Given the description of an element on the screen output the (x, y) to click on. 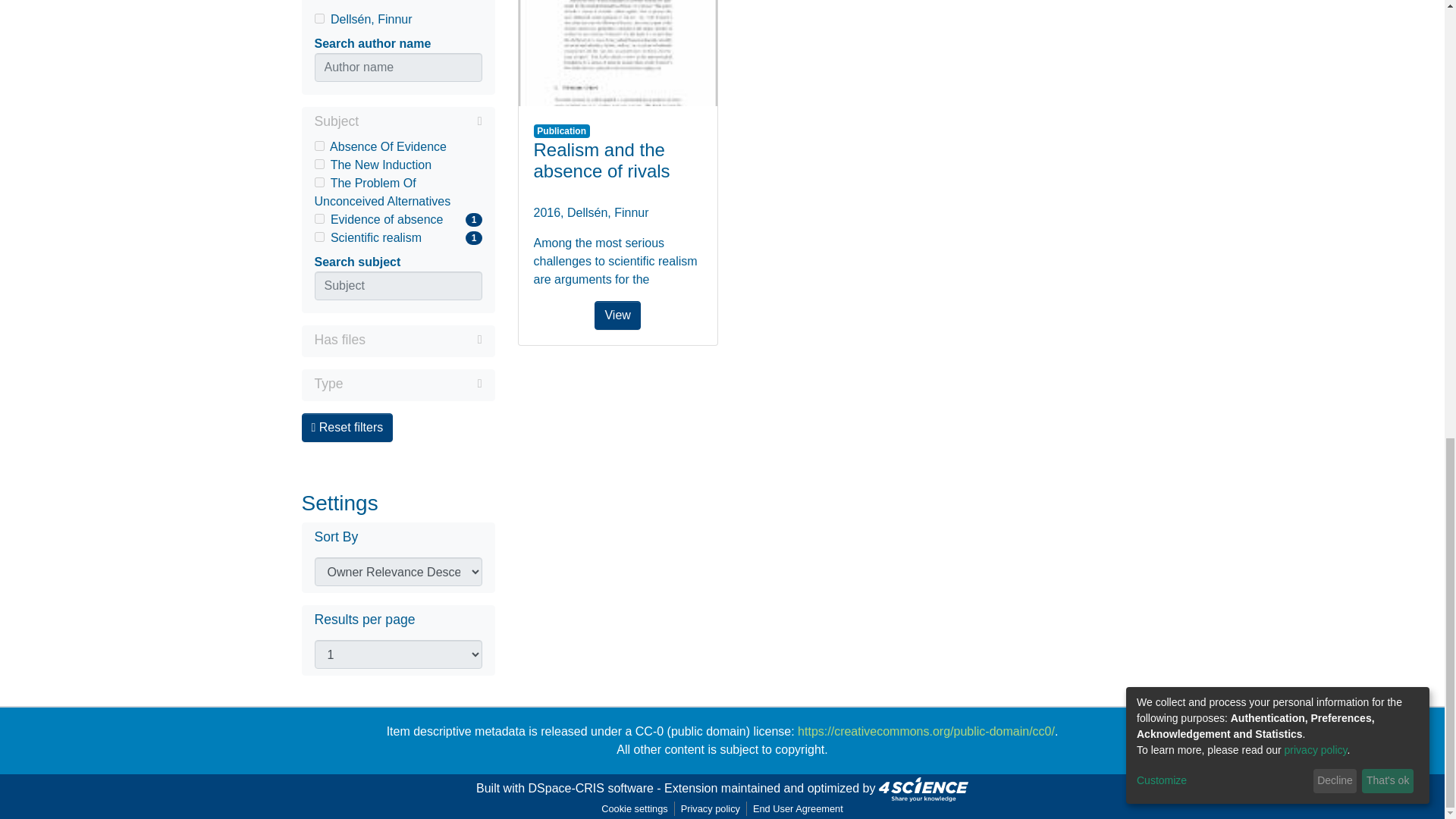
Subject (397, 122)
The Problem Of Unconceived Alternatives (397, 192)
on (397, 238)
on (318, 163)
Author (318, 145)
Absence Of Evidence (397, 2)
Expand filter (397, 147)
Collapse filter (423, 339)
Collapse filter (417, 1)
View (419, 121)
on (617, 53)
on (318, 236)
on (318, 18)
